Given the description of an element on the screen output the (x, y) to click on. 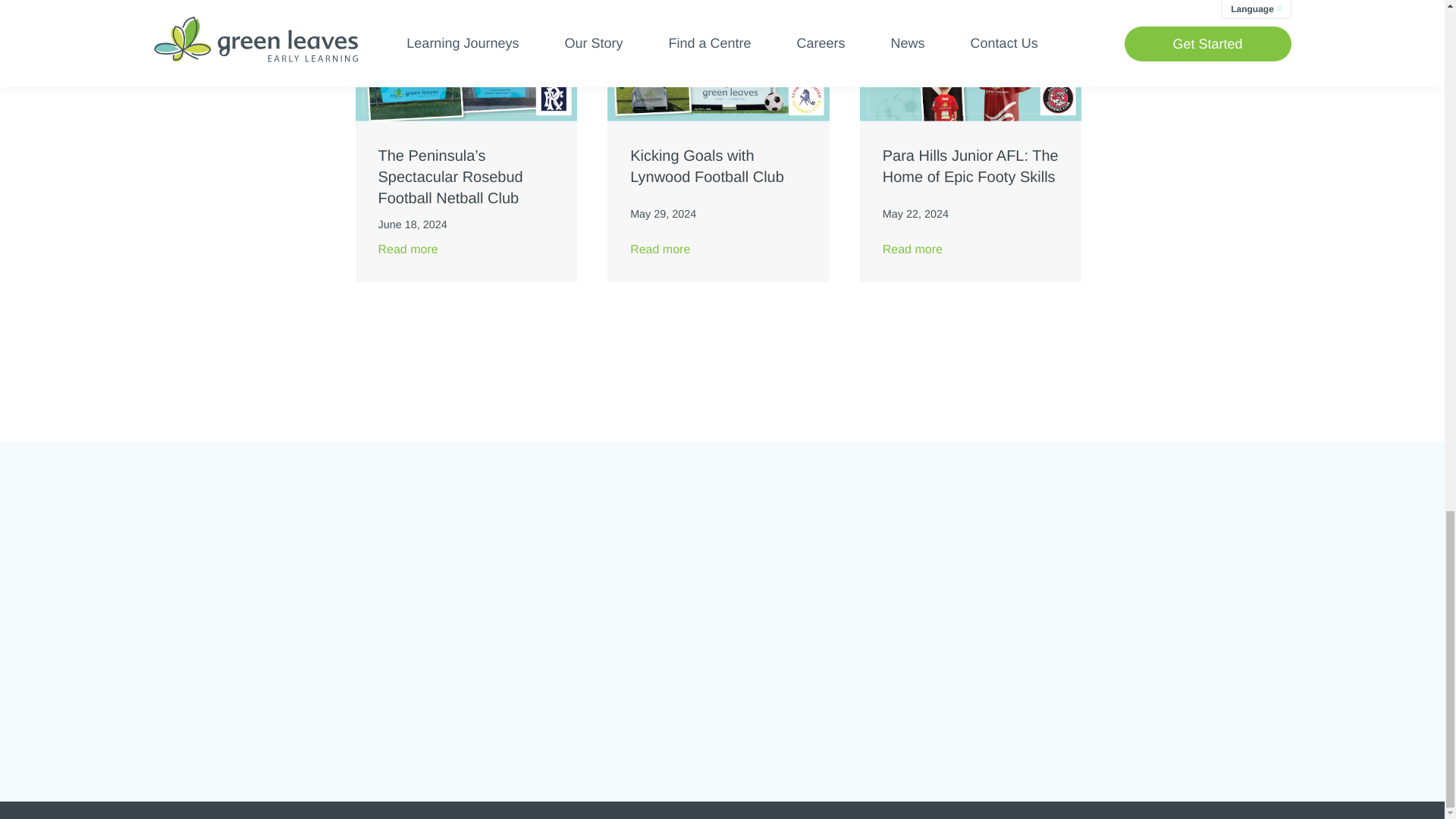
Kicking Goals with Lynwood Football Club (718, 166)
Read more (718, 249)
Read more (465, 249)
